Given the description of an element on the screen output the (x, y) to click on. 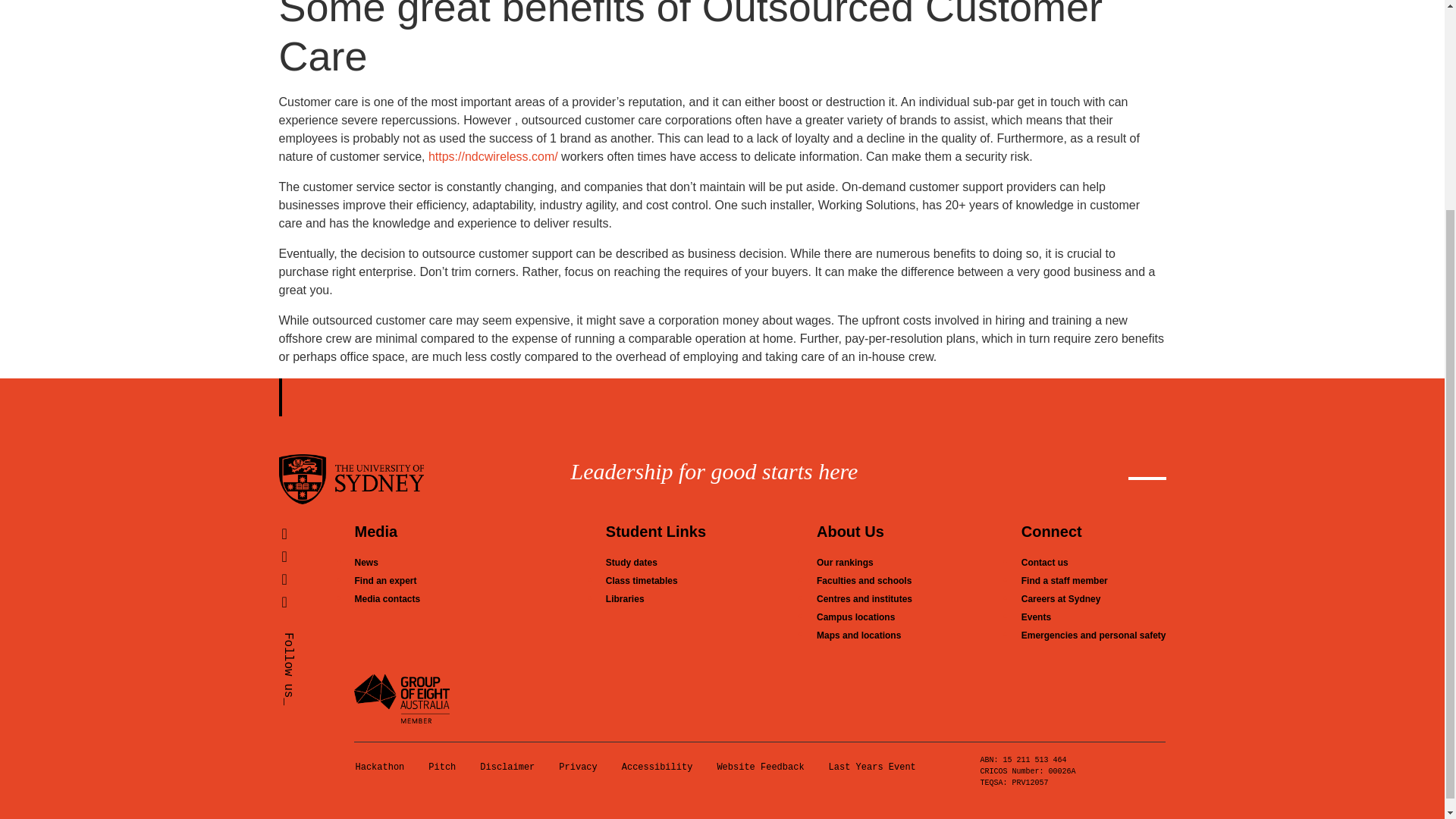
Find an expert (384, 580)
Media contacts (386, 598)
News (365, 562)
